Given the description of an element on the screen output the (x, y) to click on. 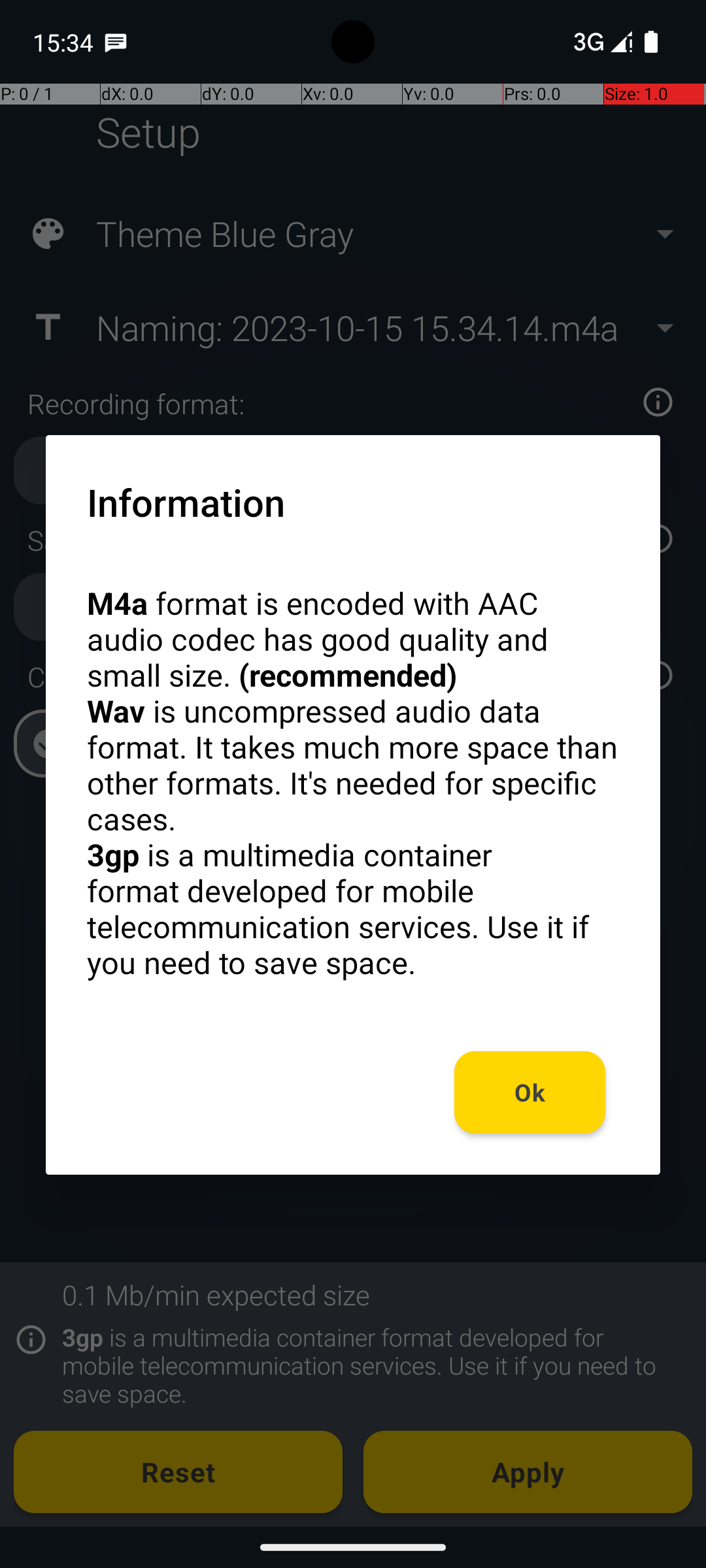
Information Element type: android.widget.TextView (185, 501)
M4a format is encoded with AAC audio codec has good quality and small size. (recommended) 
Wav is uncompressed audio data format. It takes much more space than other formats. It's needed for specific cases. 
3gp is a multimedia container format developed for mobile telecommunication services. Use it if you need to save space.  Element type: android.widget.TextView (352, 782)
Ok Element type: android.widget.Button (529, 1092)
Phone three bars. Element type: android.widget.FrameLayout (600, 41)
